Given the description of an element on the screen output the (x, y) to click on. 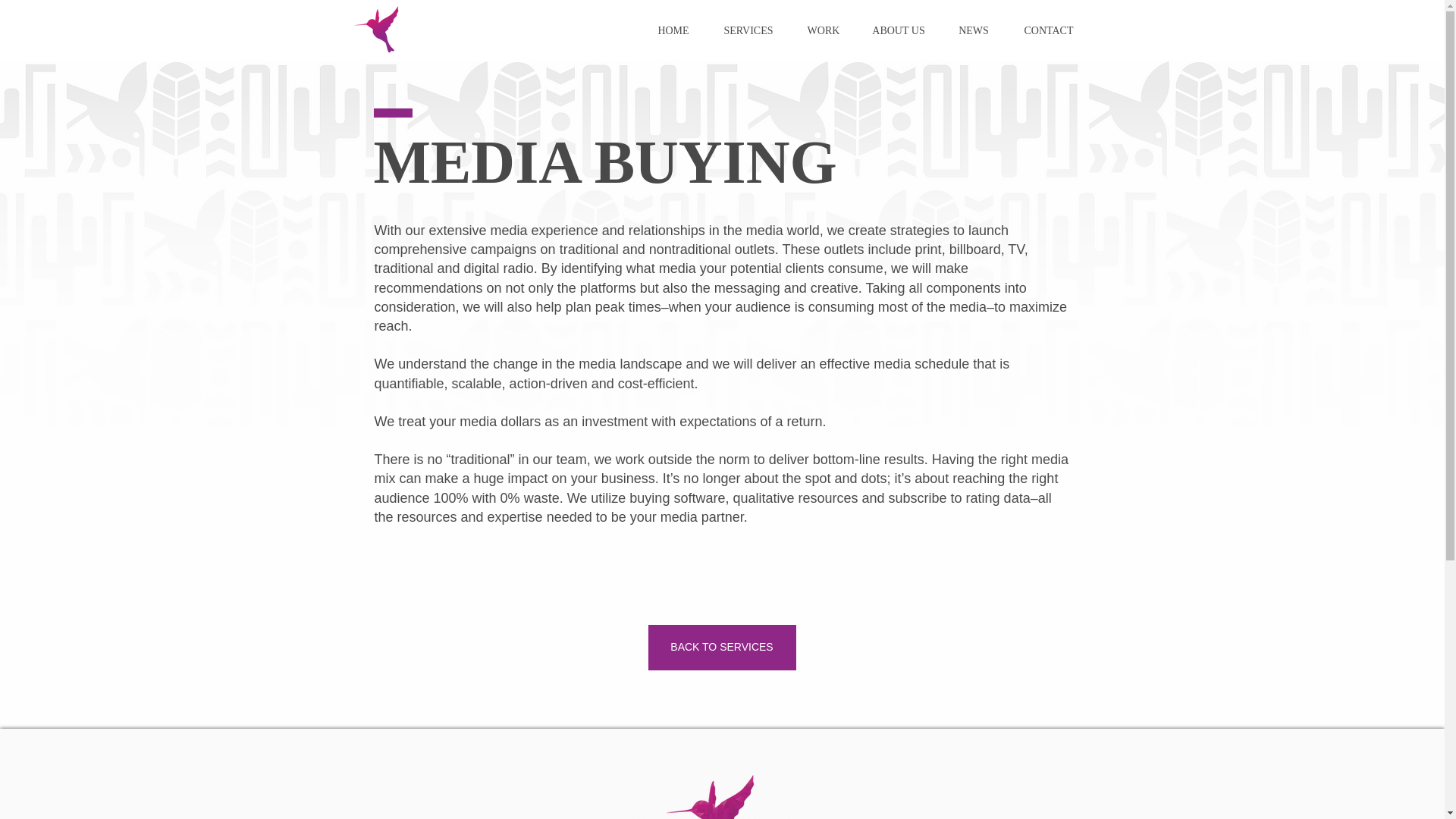
SERVICES (748, 30)
CONTACT (1048, 30)
Colibri Mosaic.png (378, 29)
ABOUT US (898, 30)
NEWS (973, 30)
HOME (672, 30)
BACK TO SERVICES (720, 647)
WORK (823, 30)
